Given the description of an element on the screen output the (x, y) to click on. 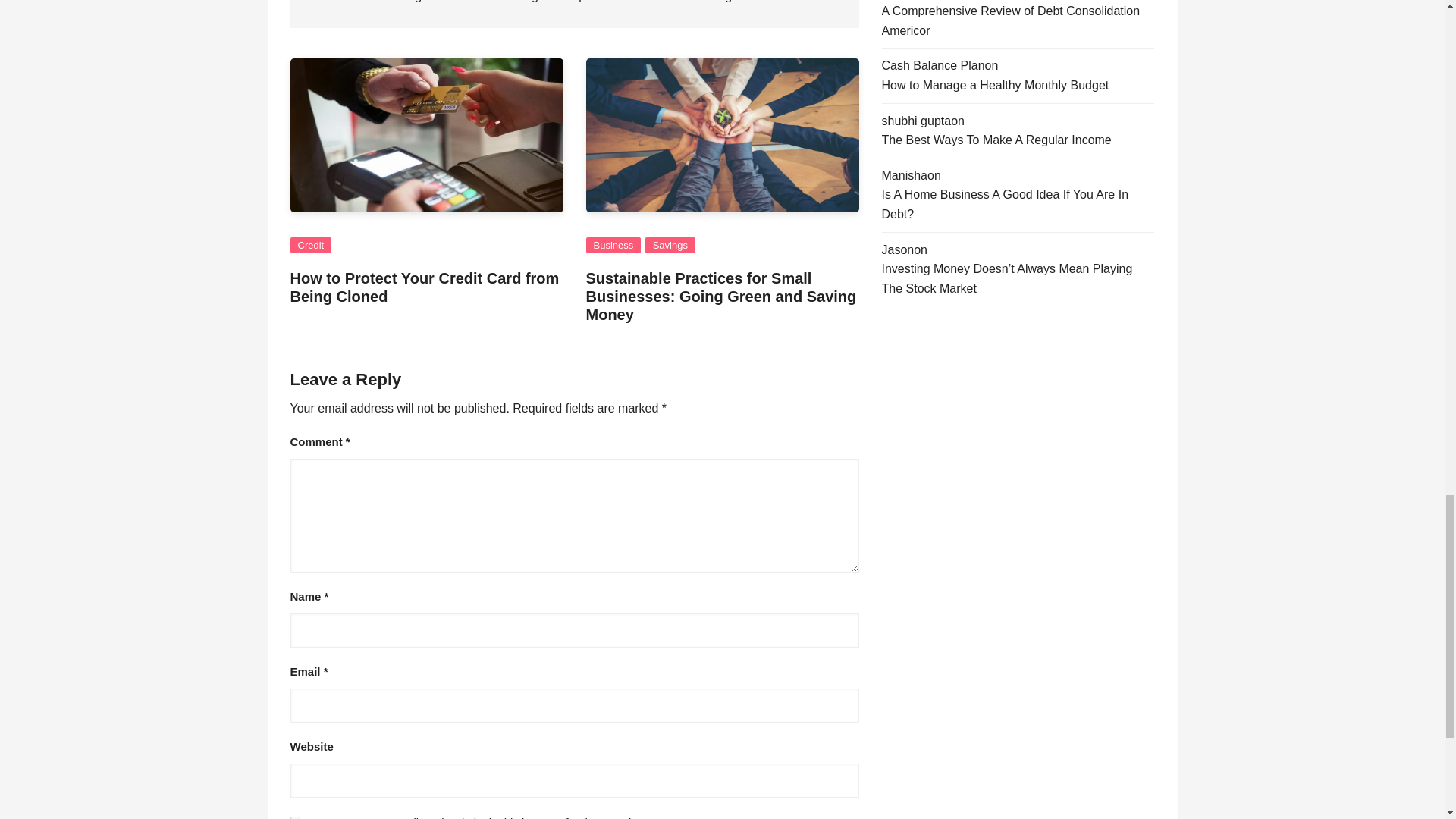
Credit (310, 245)
